Given the description of an element on the screen output the (x, y) to click on. 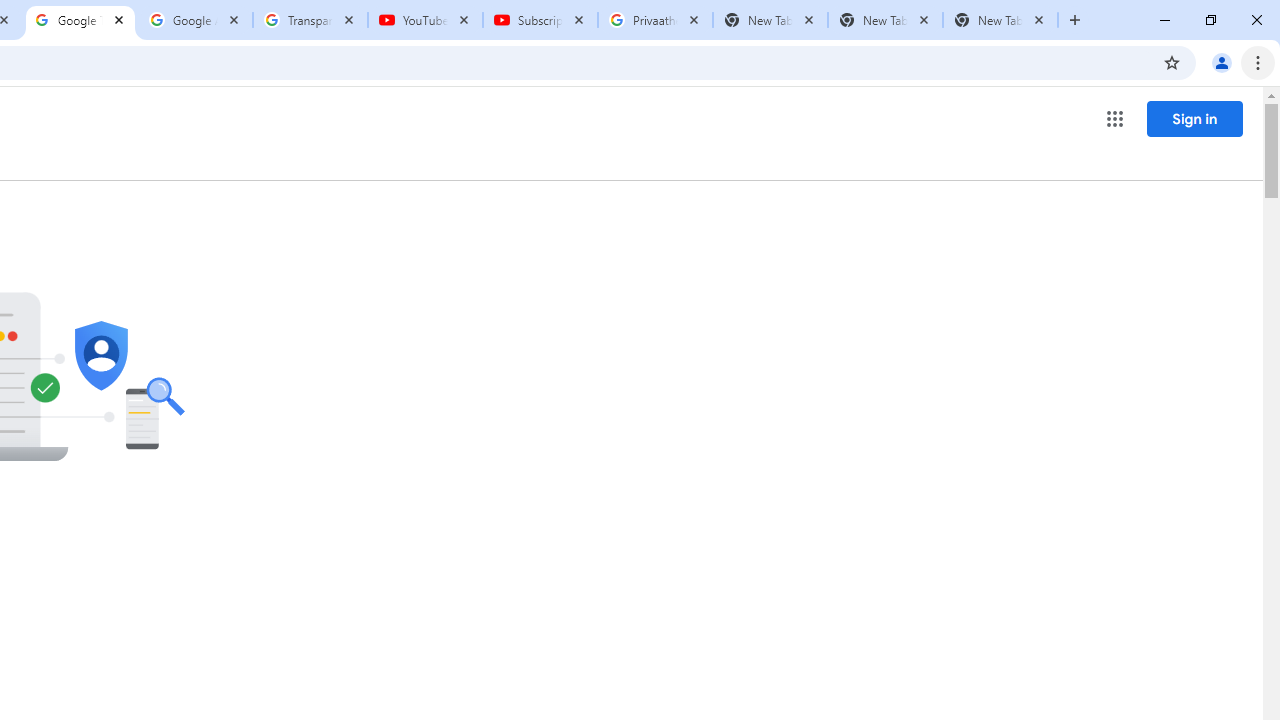
Google Account (195, 20)
YouTube (424, 20)
Subscriptions - YouTube (539, 20)
New Tab (1000, 20)
